Given the description of an element on the screen output the (x, y) to click on. 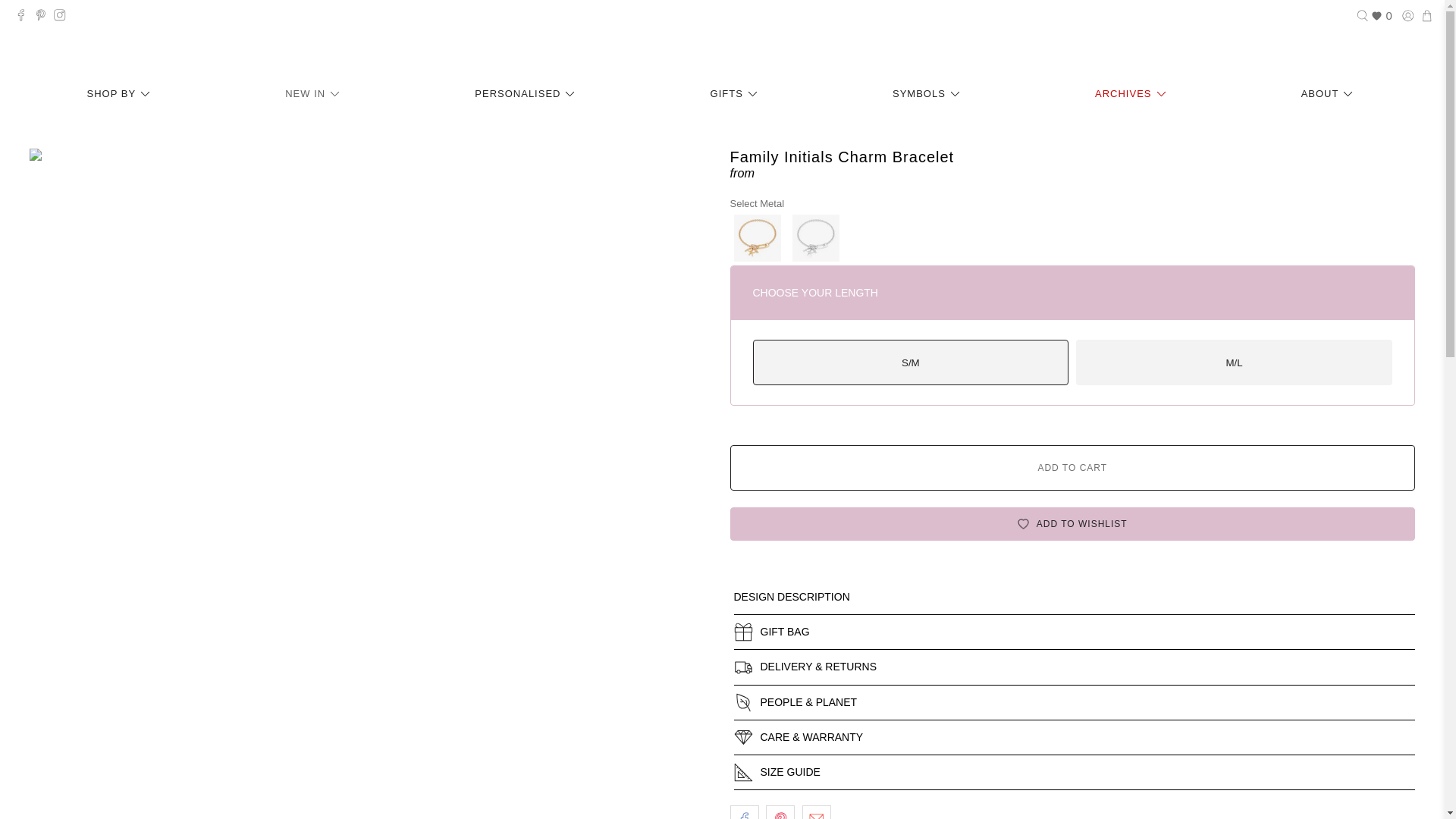
PERSONALISED (527, 93)
Share this on Pinterest (779, 812)
ABOUT (1329, 93)
Family Initials Charm Bracelet (756, 237)
SHOP BY (120, 93)
Family Initials Charm Bracelet (815, 237)
Rachel Jackson on Instagram (63, 16)
Share this on Facebook (743, 812)
0 (1381, 16)
GIFTS (736, 93)
